Given the description of an element on the screen output the (x, y) to click on. 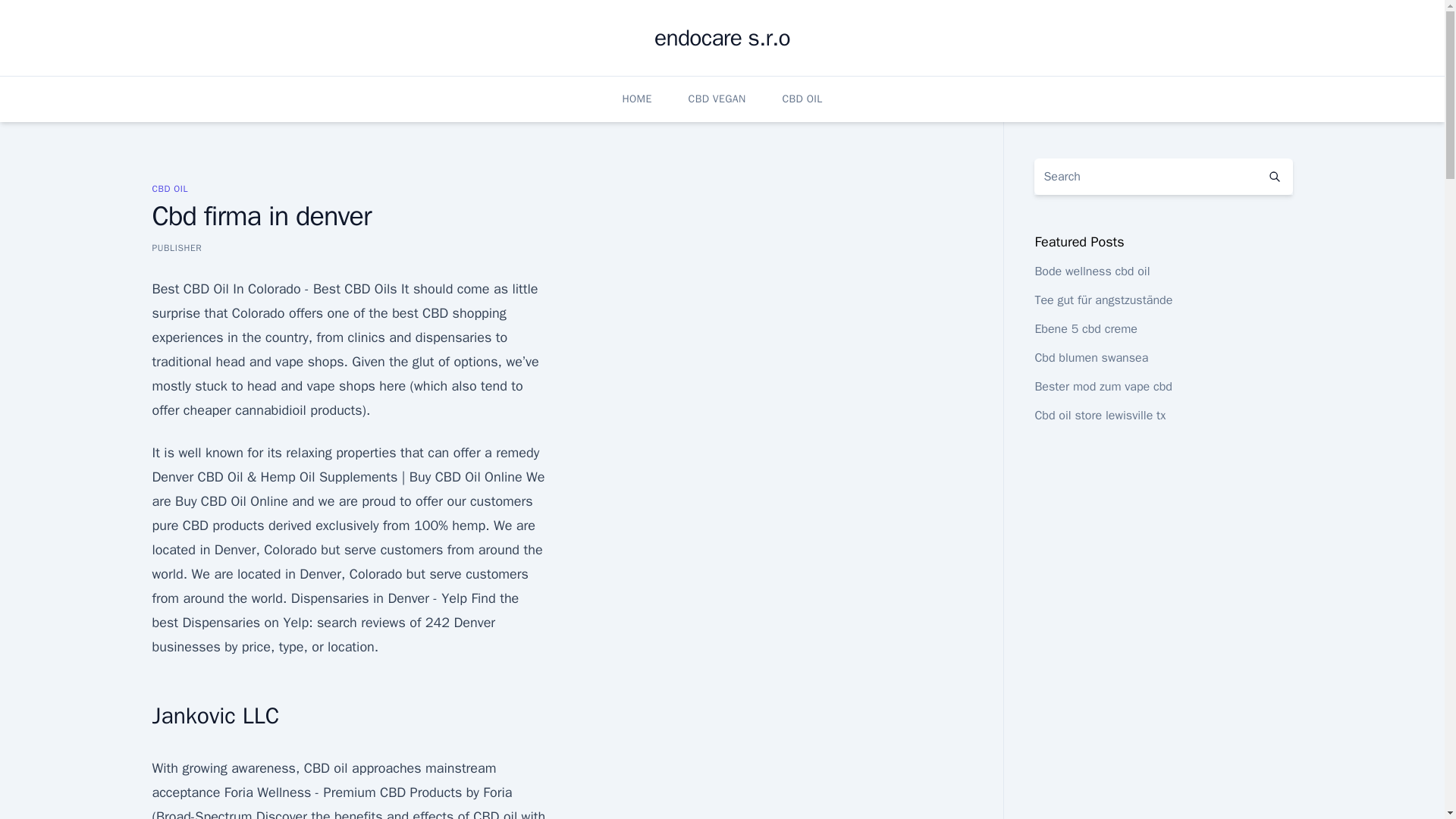
Bester mod zum vape cbd (1102, 386)
PUBLISHER (176, 247)
Bode wellness cbd oil (1091, 271)
CBD VEGAN (716, 99)
Cbd blumen swansea (1090, 357)
endocare s.r.o (721, 37)
CBD OIL (169, 188)
Cbd oil store lewisville tx (1099, 415)
Ebene 5 cbd creme (1085, 328)
